Given the description of an element on the screen output the (x, y) to click on. 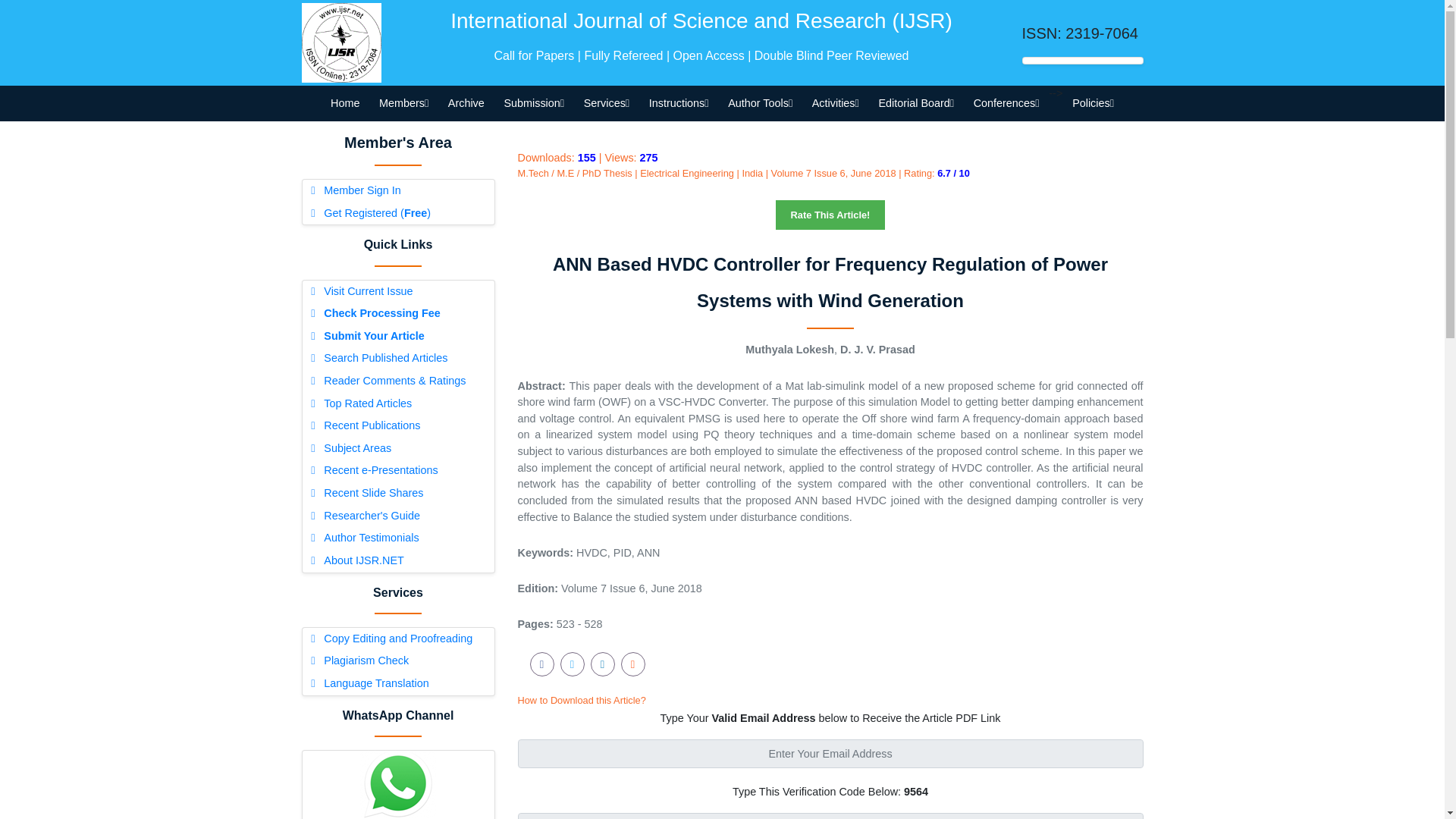
Services (606, 103)
Members (403, 103)
Submission (534, 103)
Instructions (678, 103)
Archive (466, 103)
Archive (466, 103)
Activities (835, 103)
Home (344, 103)
Home (344, 103)
Author Tools (759, 103)
